Given the description of an element on the screen output the (x, y) to click on. 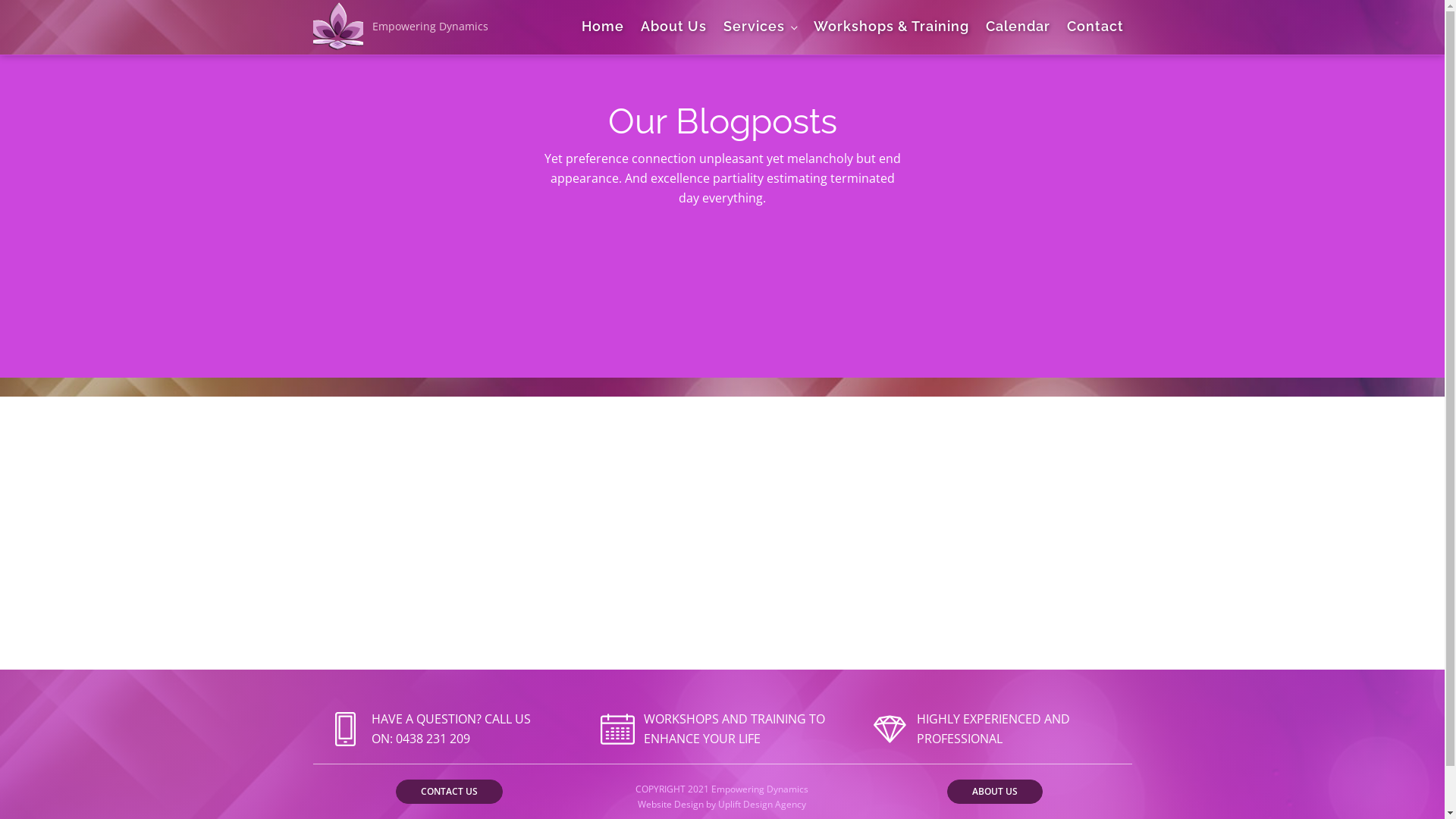
ABOUT US Element type: text (994, 791)
Services Element type: text (759, 26)
Contact Element type: text (1095, 26)
Calendar Element type: text (1016, 26)
About Us Element type: text (673, 26)
Home Element type: text (602, 26)
CONTACT US Element type: text (448, 791)
Workshops & Training Element type: text (891, 26)
